Given the description of an element on the screen output the (x, y) to click on. 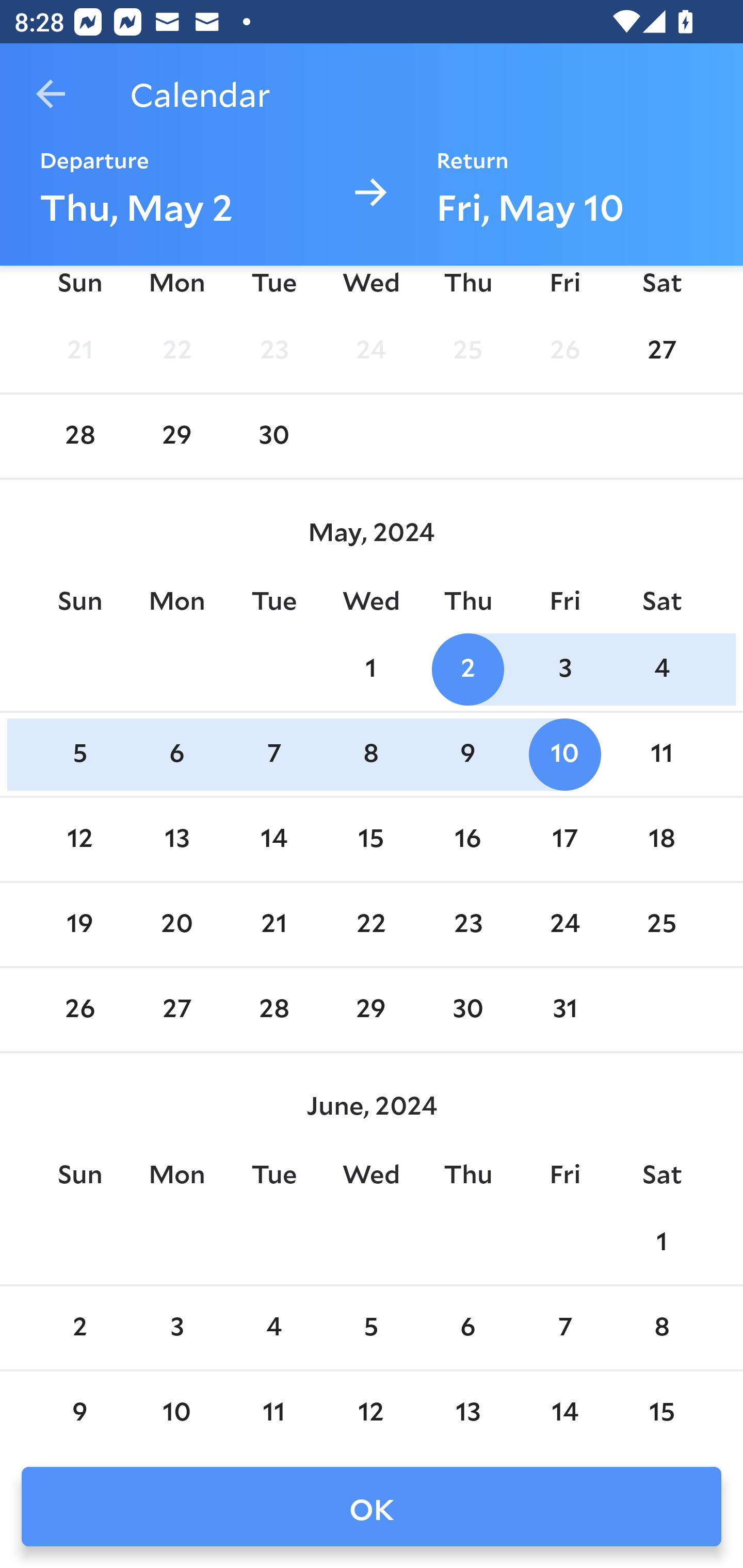
Navigate up (50, 93)
21 (79, 351)
22 (177, 351)
23 (273, 351)
24 (371, 351)
25 (467, 351)
26 (565, 351)
27 (661, 351)
28 (79, 435)
29 (177, 435)
30 (273, 435)
1 (371, 669)
2 (467, 669)
3 (565, 669)
4 (661, 669)
5 (79, 754)
6 (177, 754)
7 (273, 754)
8 (371, 754)
9 (467, 754)
10 (565, 754)
11 (661, 754)
12 (79, 839)
13 (177, 839)
14 (273, 839)
15 (371, 839)
16 (467, 839)
17 (565, 839)
18 (661, 839)
19 (79, 925)
20 (177, 925)
21 (273, 925)
22 (371, 925)
23 (467, 925)
24 (565, 925)
25 (661, 925)
26 (79, 1009)
27 (177, 1009)
28 (273, 1009)
29 (371, 1009)
30 (467, 1009)
31 (565, 1009)
1 (661, 1243)
2 (79, 1328)
3 (177, 1328)
4 (273, 1328)
5 (371, 1328)
6 (467, 1328)
7 (565, 1328)
8 (661, 1328)
9 (79, 1410)
10 (177, 1410)
11 (273, 1410)
12 (371, 1410)
13 (467, 1410)
14 (565, 1410)
15 (661, 1410)
OK (371, 1506)
